Given the description of an element on the screen output the (x, y) to click on. 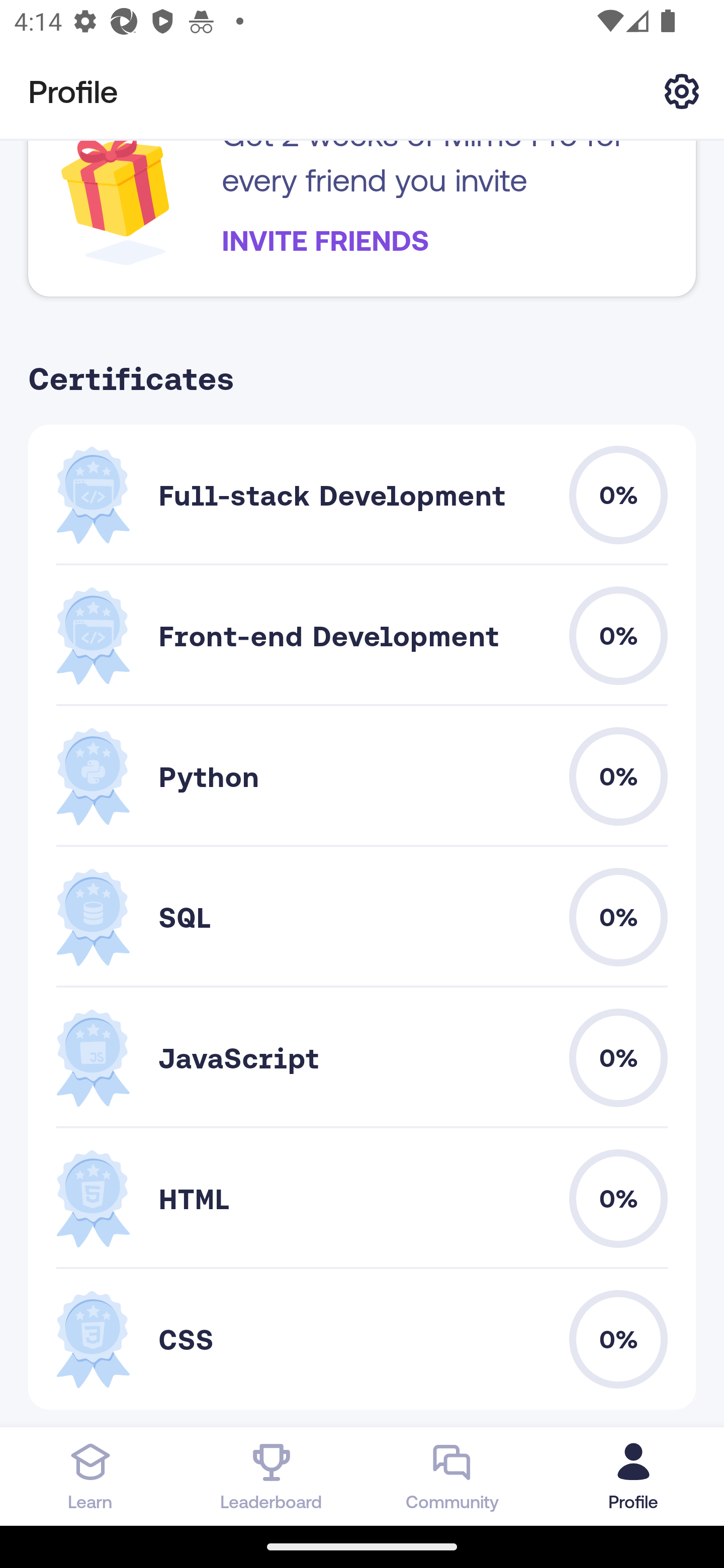
Settings (681, 90)
INVITE FRIENDS (325, 239)
Full-stack Development 0.0 0% (361, 495)
Front-end Development 0.0 0% (361, 635)
Python 0.0 0% (361, 775)
SQL 0.0 0% (361, 916)
JavaScript 0.0 0% (361, 1057)
HTML 0.0 0% (361, 1198)
CSS 0.0 0% (361, 1338)
Learn (90, 1475)
Leaderboard (271, 1475)
Community (452, 1475)
